Given the description of an element on the screen output the (x, y) to click on. 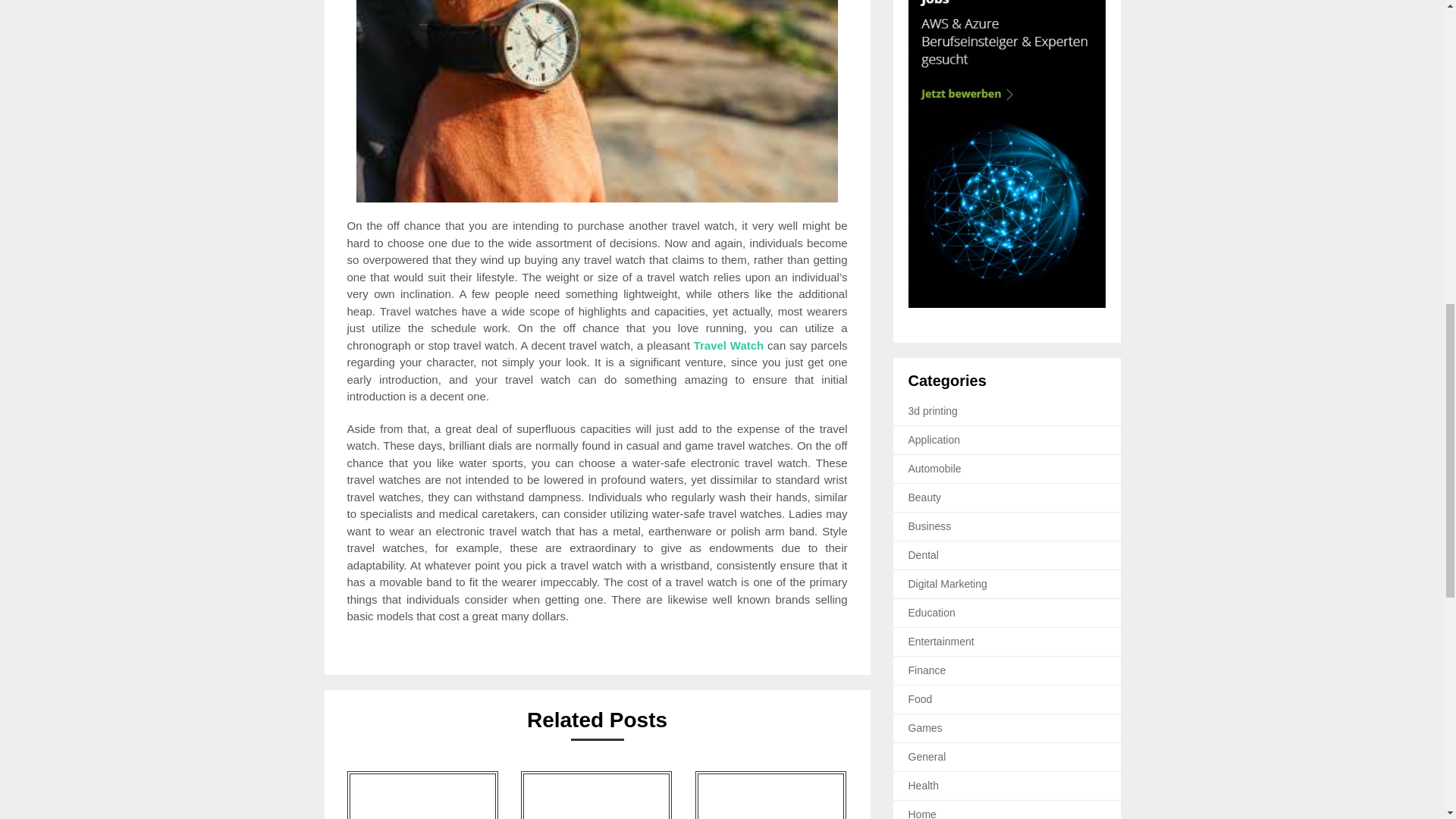
Beauty (925, 497)
Business (930, 526)
Digital Marketing (947, 583)
3d printing (933, 410)
Home (922, 813)
Automobile (934, 468)
Health (923, 785)
General (927, 756)
Finance (927, 670)
Food (920, 698)
Application (934, 439)
Games (925, 727)
Travel Watch (729, 345)
Education (931, 612)
Entertainment (941, 641)
